Given the description of an element on the screen output the (x, y) to click on. 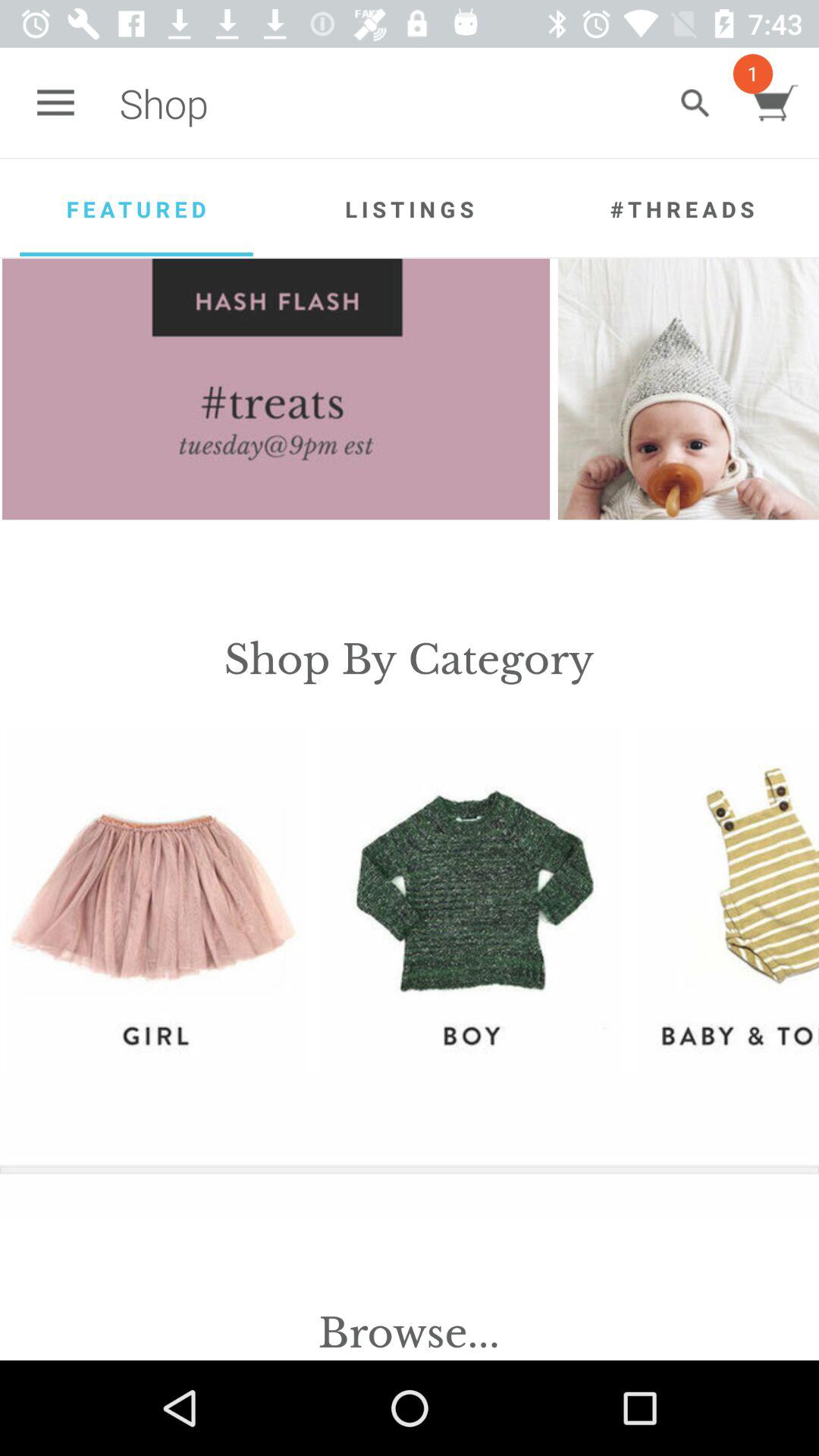
go to hash flash (275, 388)
